Given the description of an element on the screen output the (x, y) to click on. 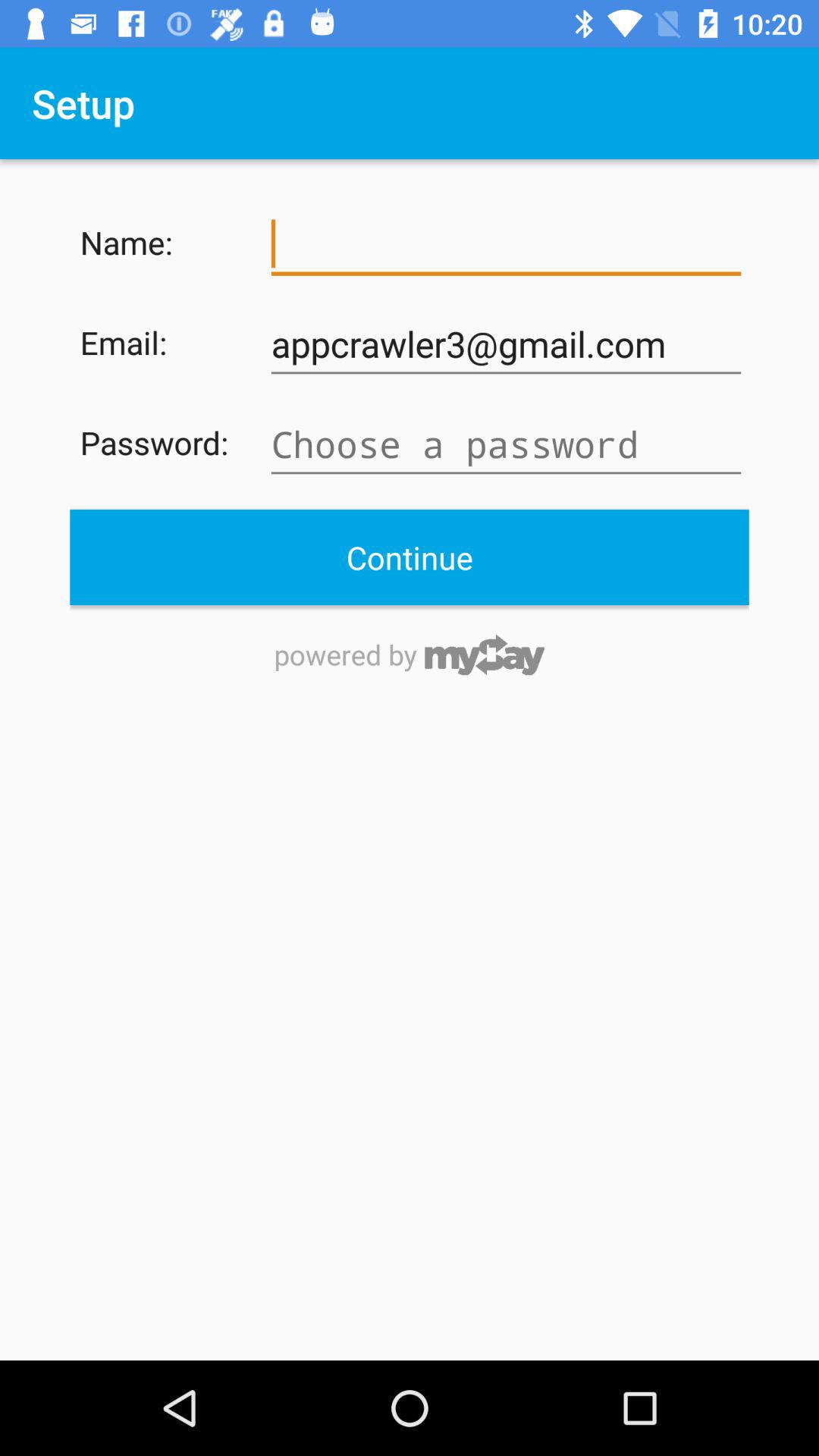
choose continue (409, 557)
